Given the description of an element on the screen output the (x, y) to click on. 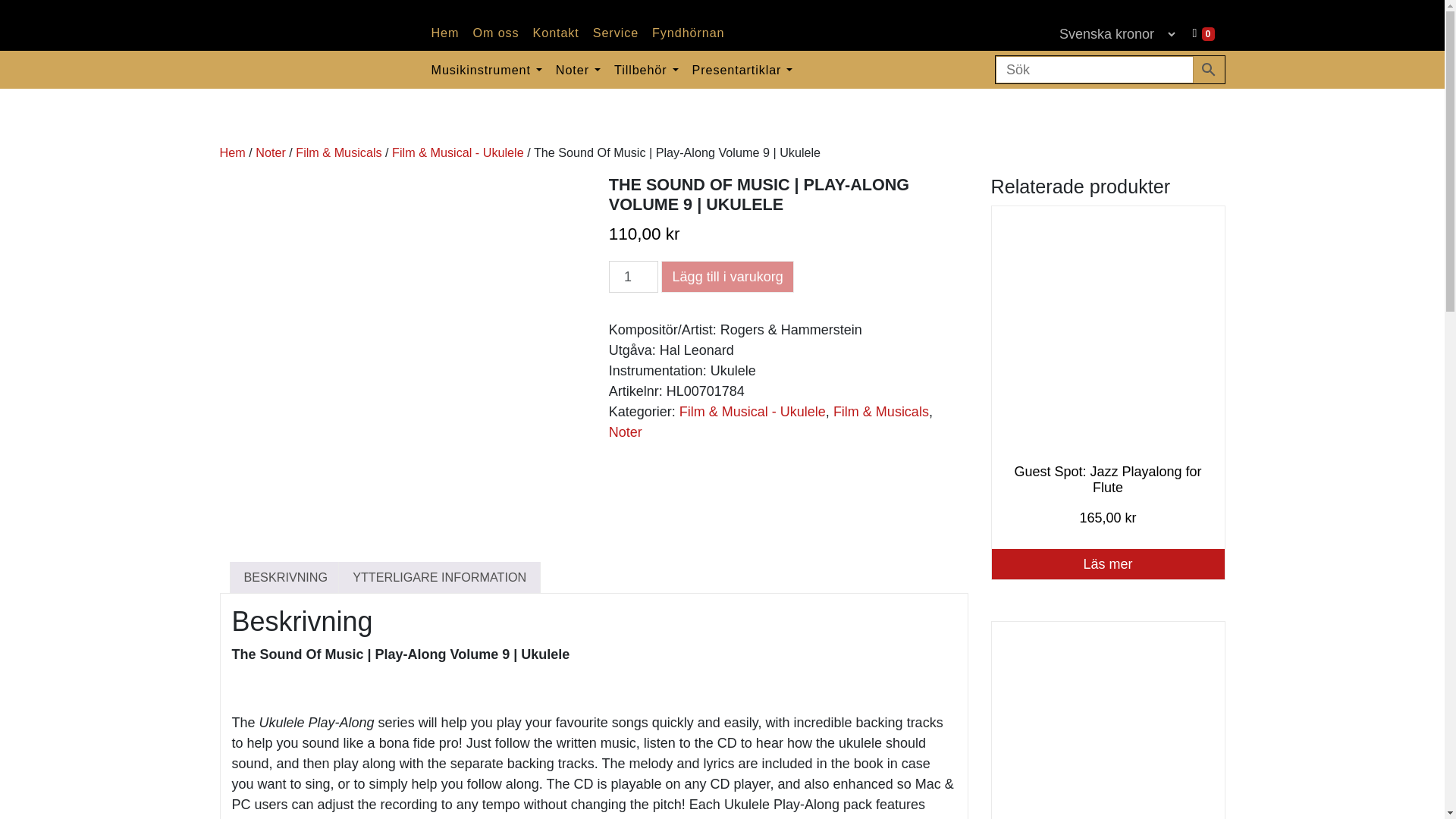
Hem (445, 31)
Om oss (495, 31)
Kontakt (555, 31)
1 (633, 277)
Service (615, 31)
Musikinstrument (486, 68)
Musikinstrument (486, 68)
0 (1203, 31)
Hem (445, 31)
Service (615, 31)
